Given the description of an element on the screen output the (x, y) to click on. 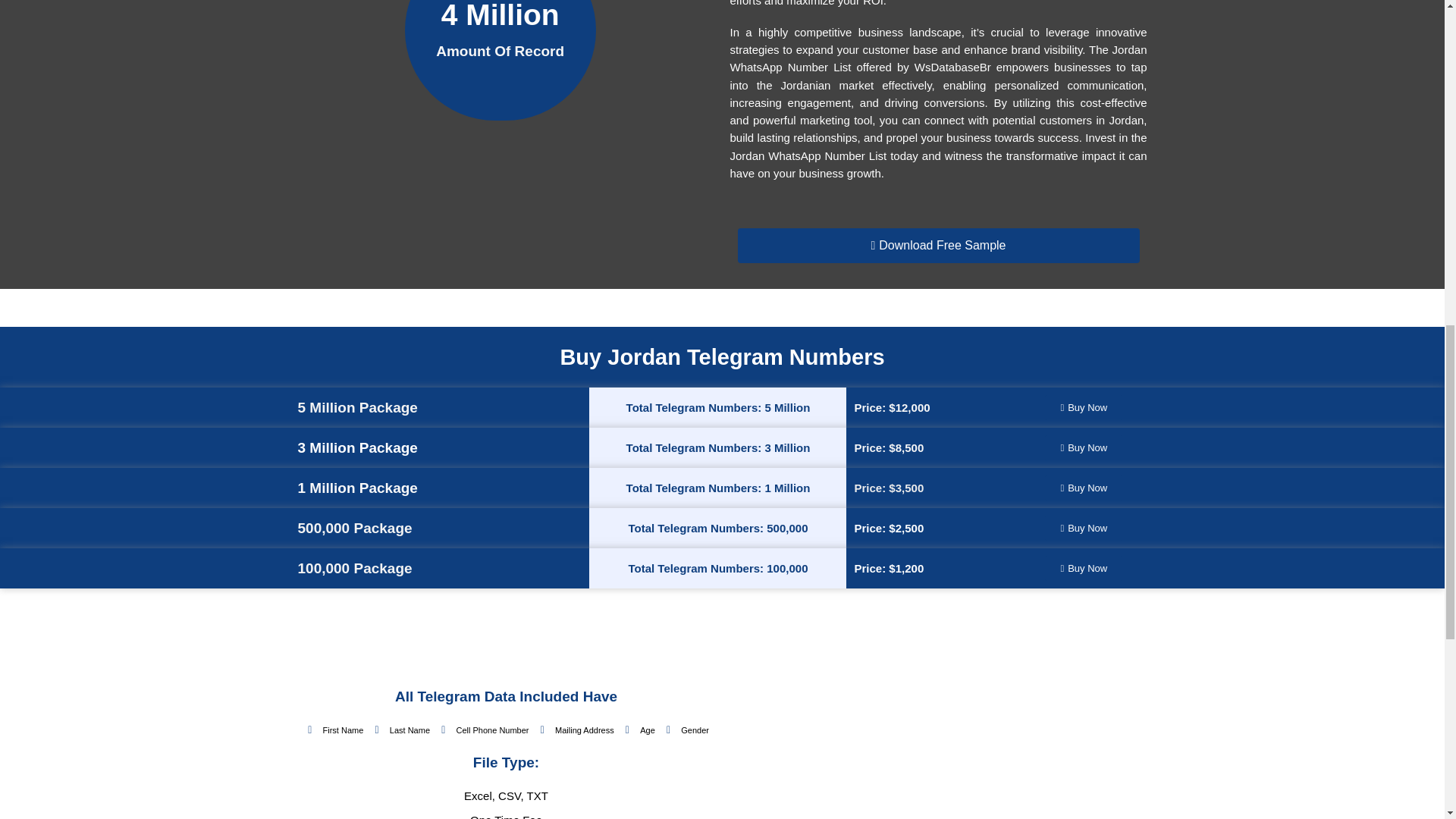
Buy Now (1083, 568)
Buy Now (1083, 527)
Buy Now (1083, 407)
Download Free Sample (937, 245)
Buy Now (1083, 487)
Buy Now (1083, 447)
